Given the description of an element on the screen output the (x, y) to click on. 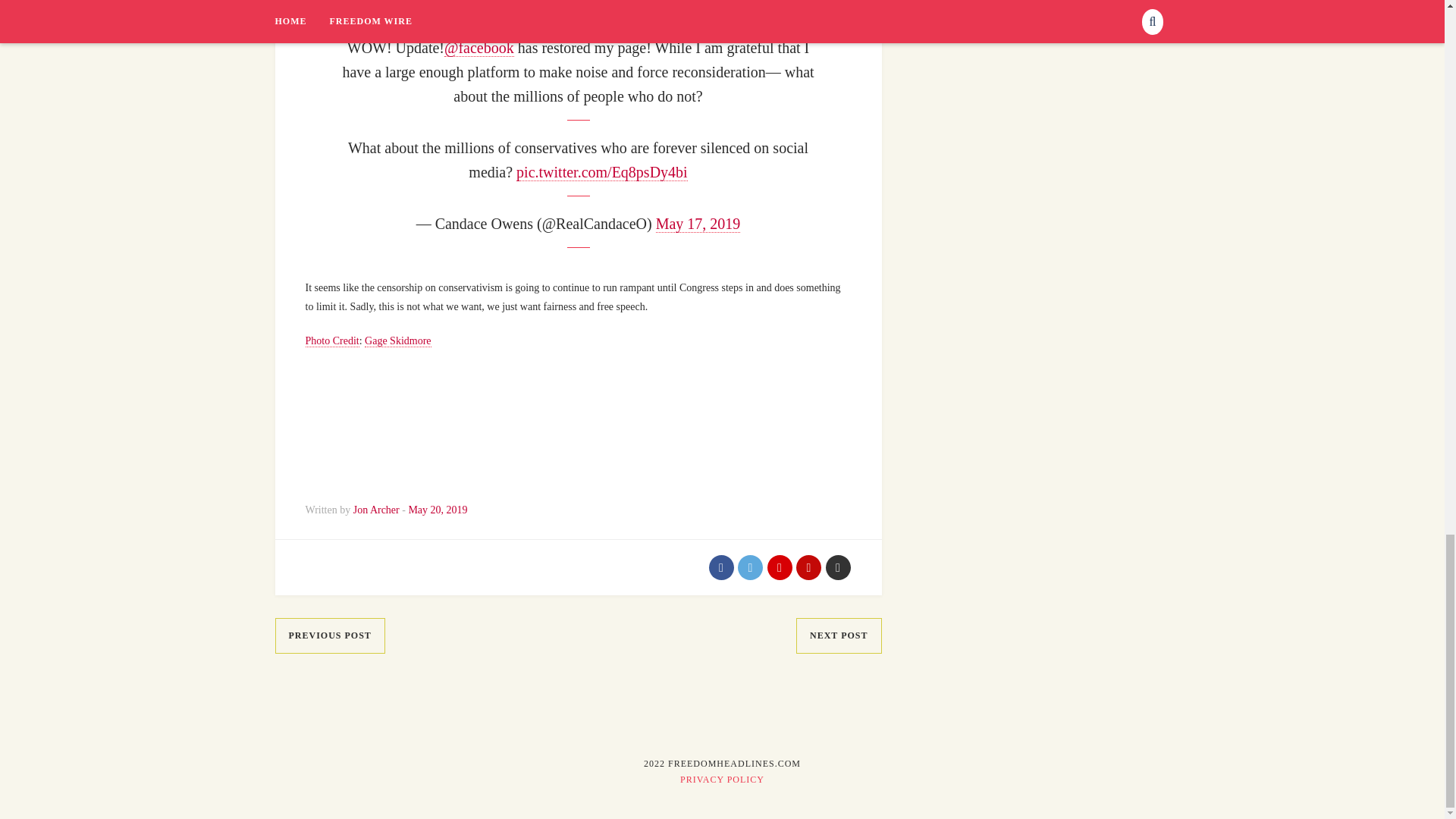
Gage Skidmore (397, 340)
PRIVACY POLICY (721, 778)
PREVIOUS POST (329, 634)
Photo Credit (331, 340)
NEXT POST (838, 634)
May 17, 2019 (698, 223)
